Given the description of an element on the screen output the (x, y) to click on. 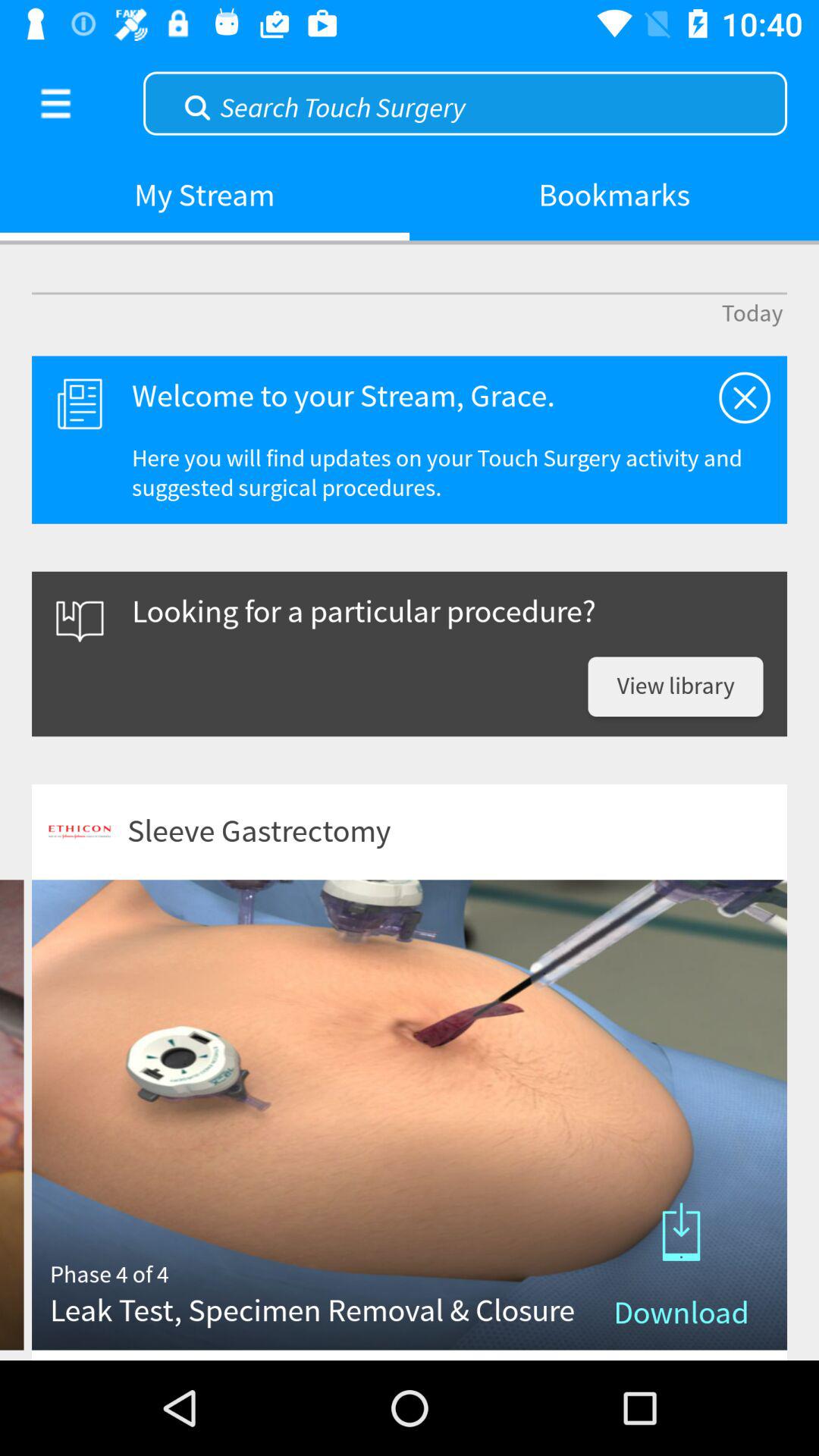
press icon below today (744, 397)
